Given the description of an element on the screen output the (x, y) to click on. 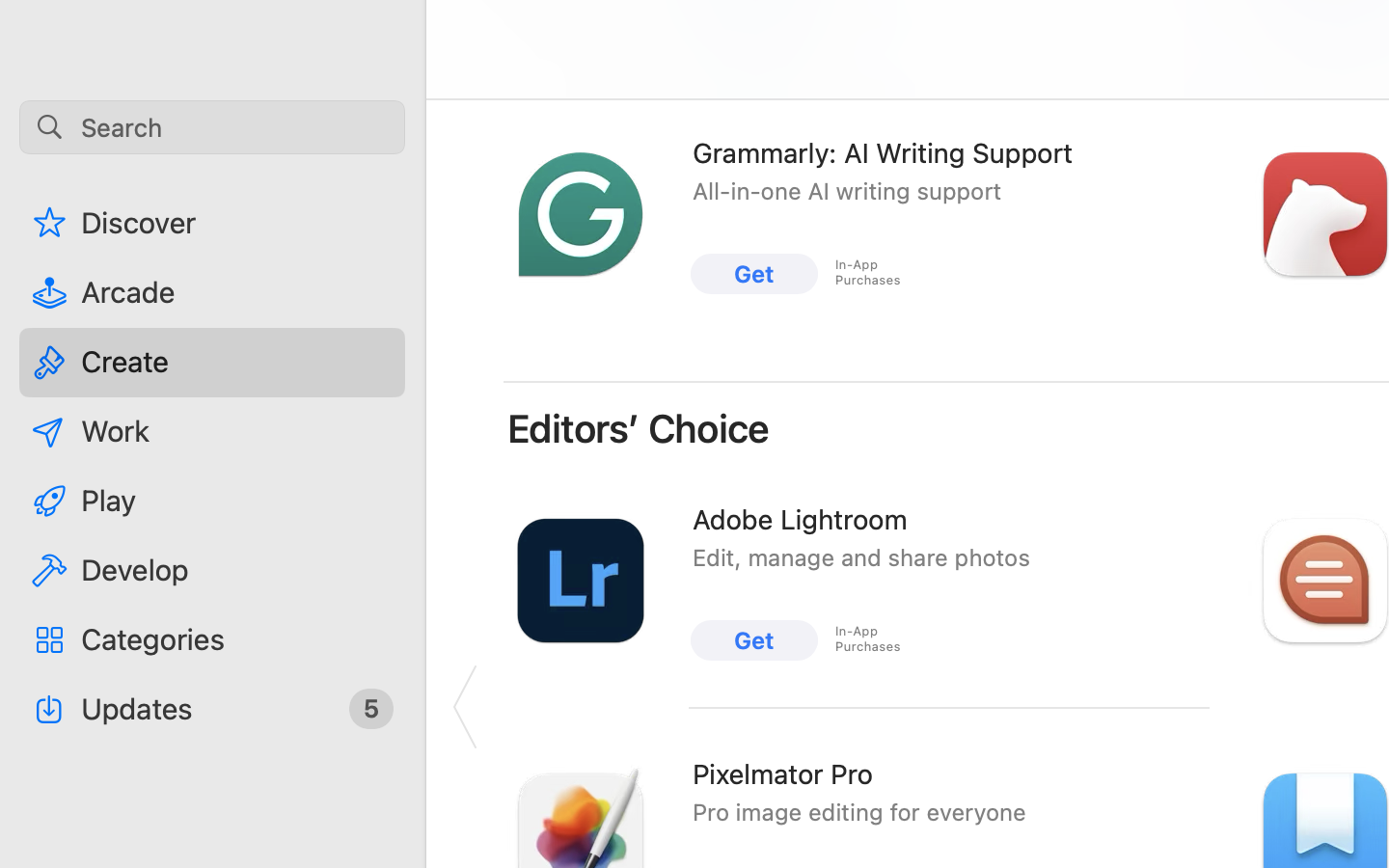
Editors’ Choice Element type: AXStaticText (638, 428)
